Given the description of an element on the screen output the (x, y) to click on. 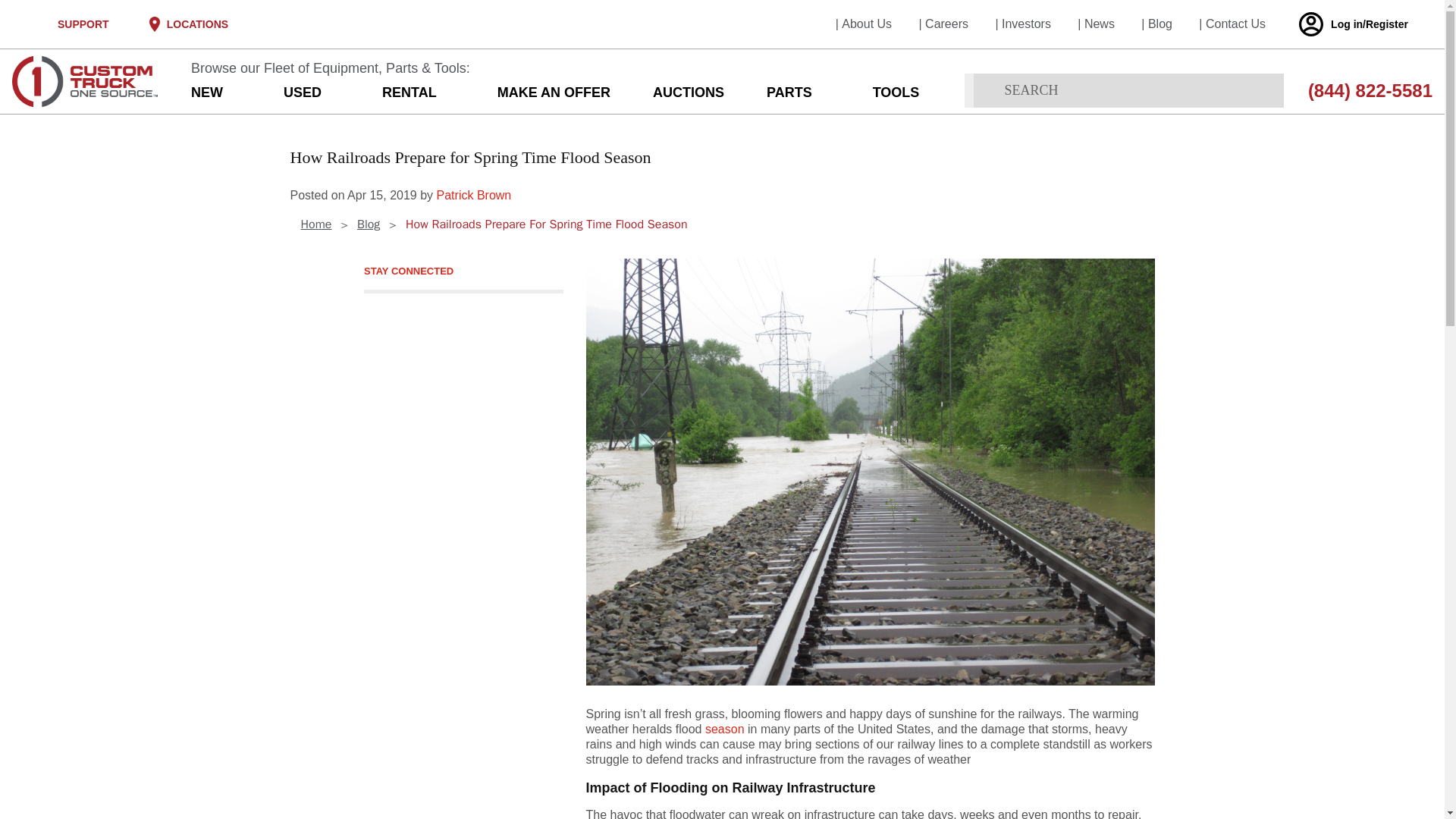
Blog (1160, 23)
About Us (866, 23)
Careers (946, 23)
LOCATIONS (197, 23)
SUPPORT (83, 24)
NEW (212, 92)
Go to the Blog category archives. (368, 224)
USED (308, 92)
Contact Us (1235, 23)
Search for: (1129, 90)
News (1099, 23)
Go to Custom Truck One Source. (315, 224)
SUPPORT (82, 24)
Investors (1026, 23)
